Given the description of an element on the screen output the (x, y) to click on. 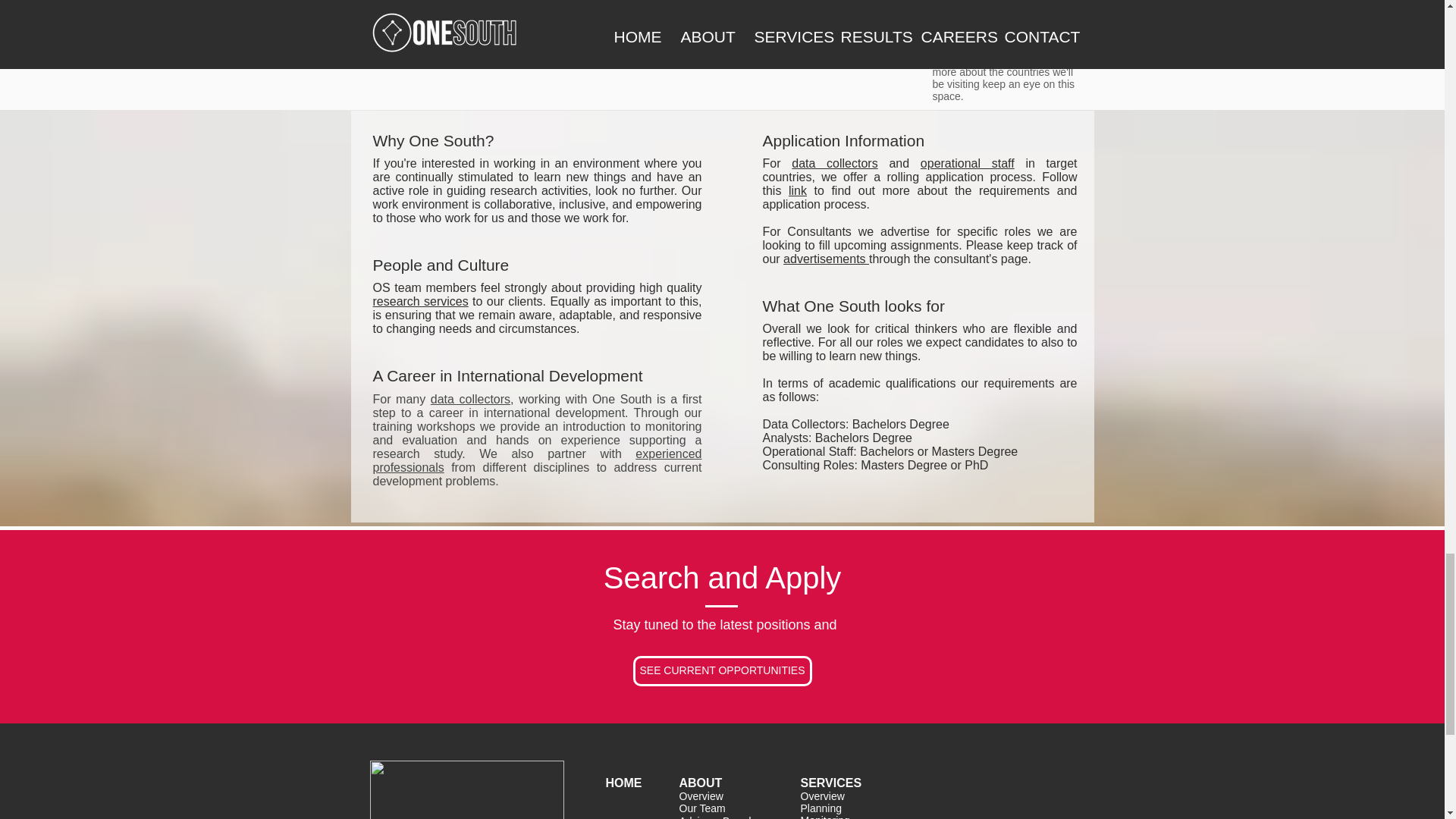
data collectors (834, 163)
data collectors (470, 399)
experienced professionals (536, 460)
operational staff (967, 163)
HOME (623, 782)
advertisements (826, 258)
logo-blanco-png-250x1050.png (466, 789)
research services (420, 300)
Overview (701, 796)
link (797, 190)
ABOUT (700, 782)
